Given the description of an element on the screen output the (x, y) to click on. 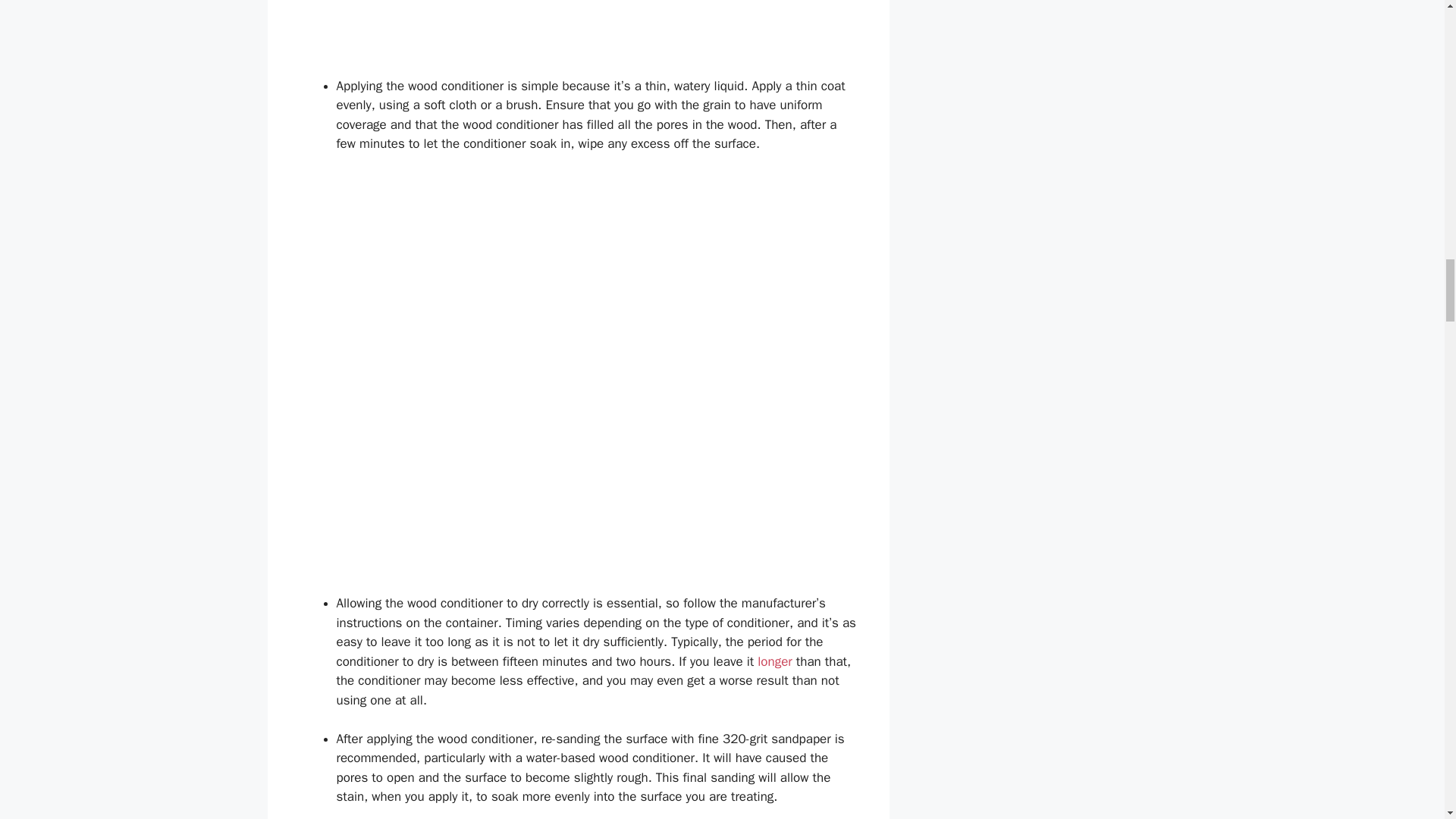
longer (774, 661)
